Given the description of an element on the screen output the (x, y) to click on. 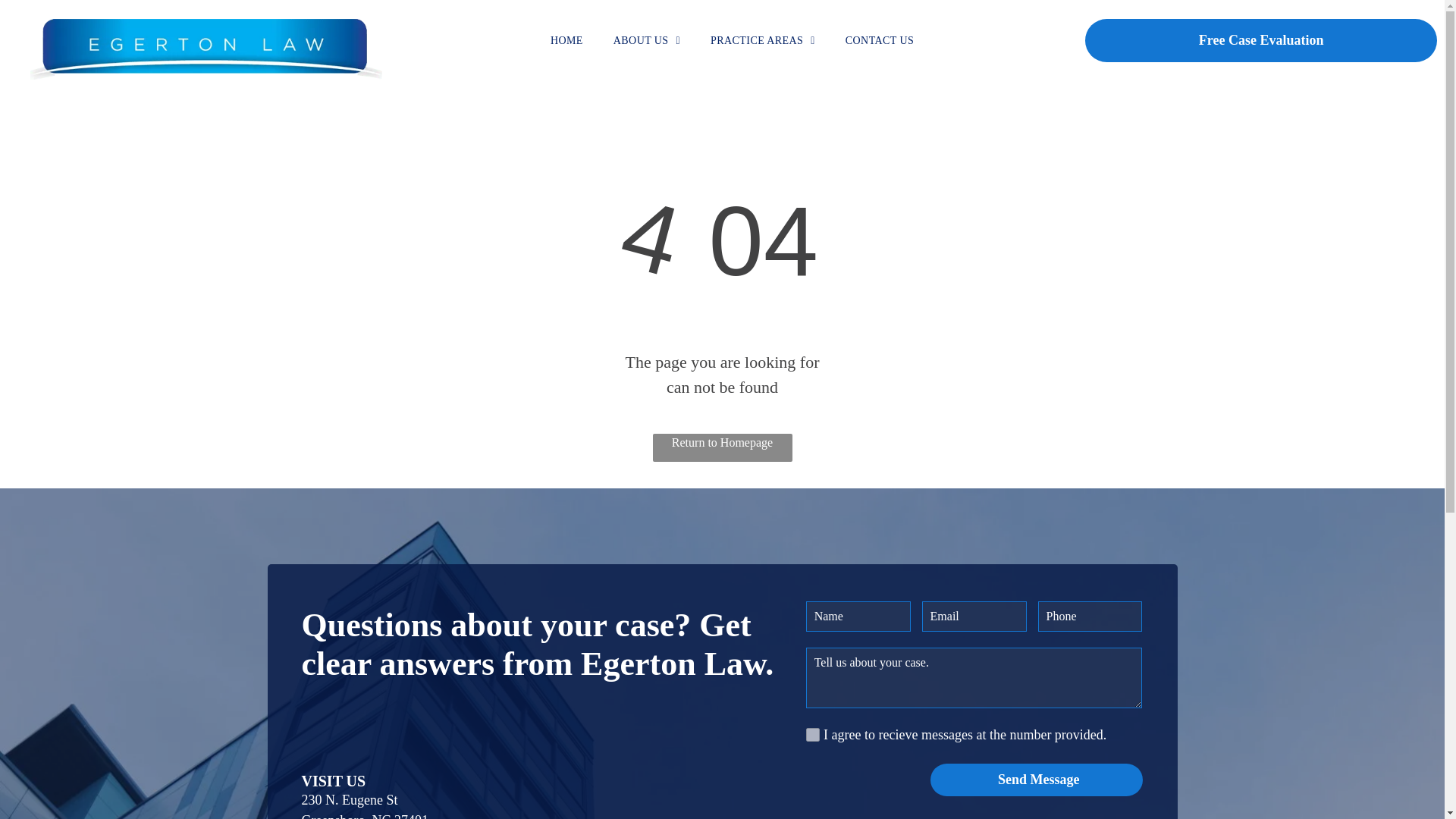
ABOUT US (646, 40)
Send Message (1038, 779)
CONTACT US (878, 40)
HOME (566, 40)
Send Message (1038, 779)
PRACTICE AREAS (762, 40)
I agree to recieve messages at the number provided. (812, 735)
Free Case Evaluation (1260, 40)
Return to Homepage (722, 447)
